Given the description of an element on the screen output the (x, y) to click on. 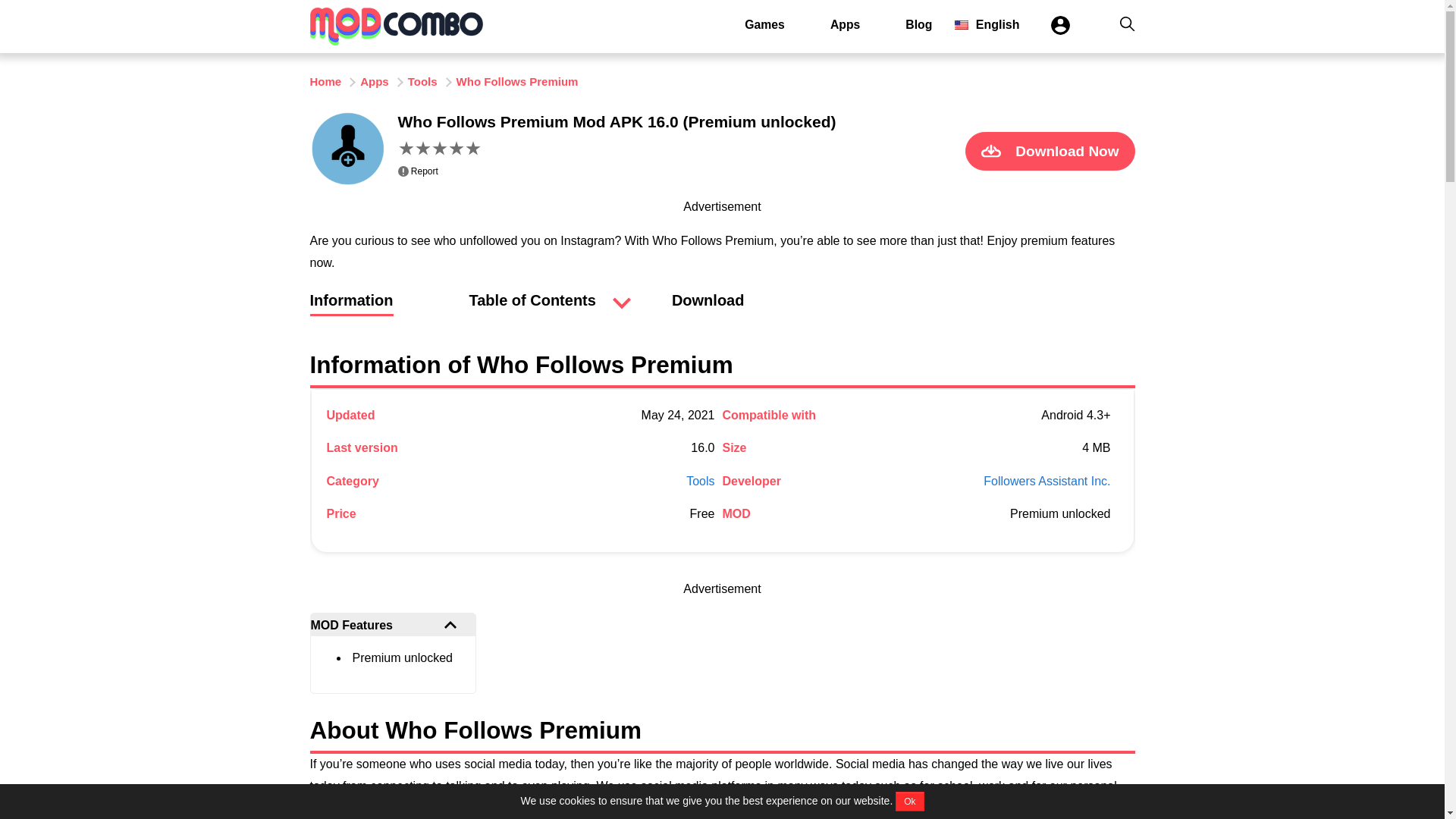
Blog (918, 24)
Home (324, 81)
English (987, 24)
Apps (373, 81)
Download (707, 307)
Games (765, 24)
Games (765, 24)
Followers Assistant Inc. (1046, 481)
Tools (422, 81)
Apps (845, 24)
